Given the description of an element on the screen output the (x, y) to click on. 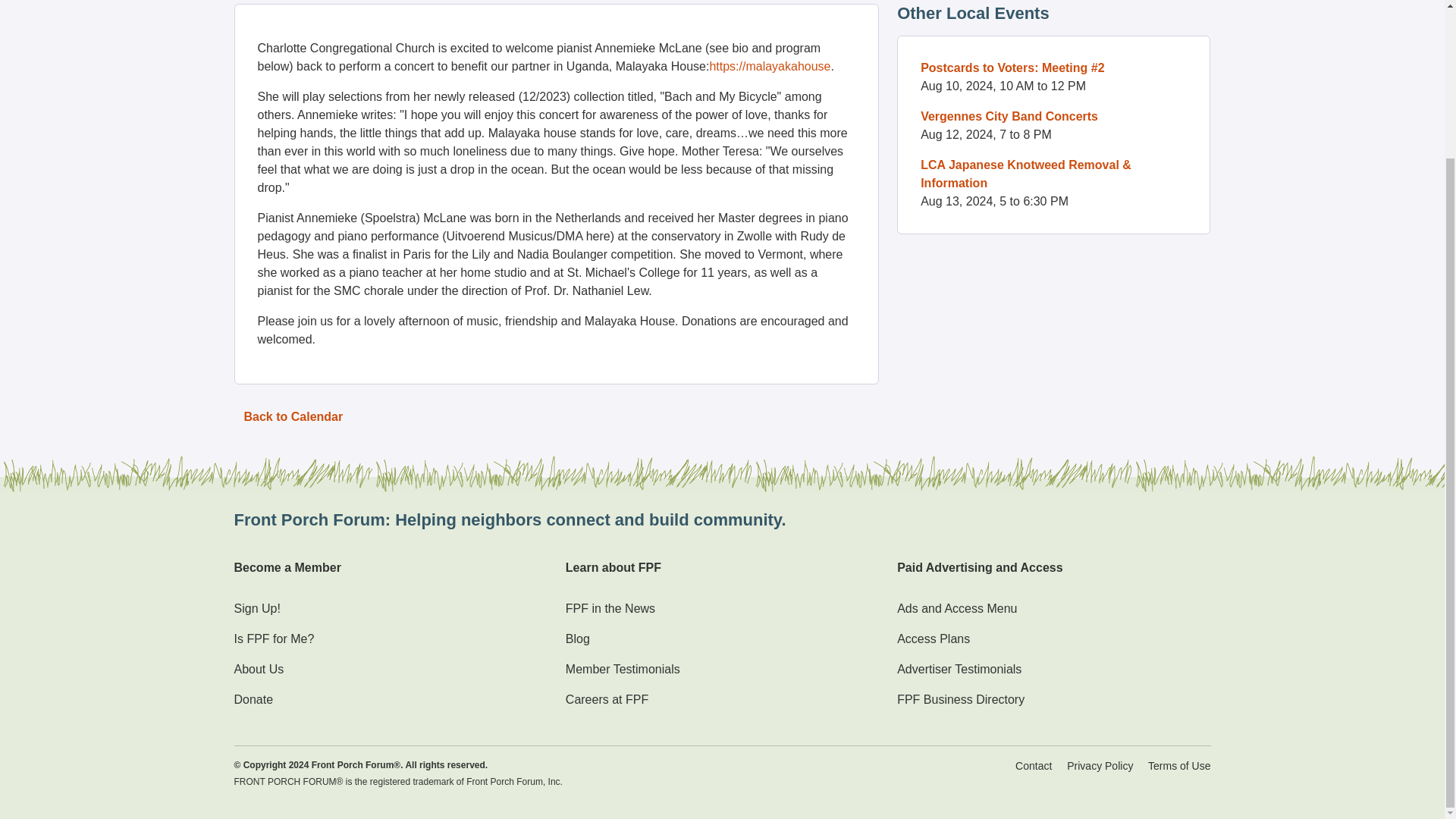
Careers at FPF (606, 698)
Member Testimonials (622, 668)
Sign Up! (255, 608)
Ads and Access Menu (956, 608)
Blog (577, 638)
Is FPF for Me? (273, 638)
Terms of Use (1178, 766)
FPF Business Directory (960, 698)
FPF in the News (610, 608)
Back to Calendar (292, 416)
